Given the description of an element on the screen output the (x, y) to click on. 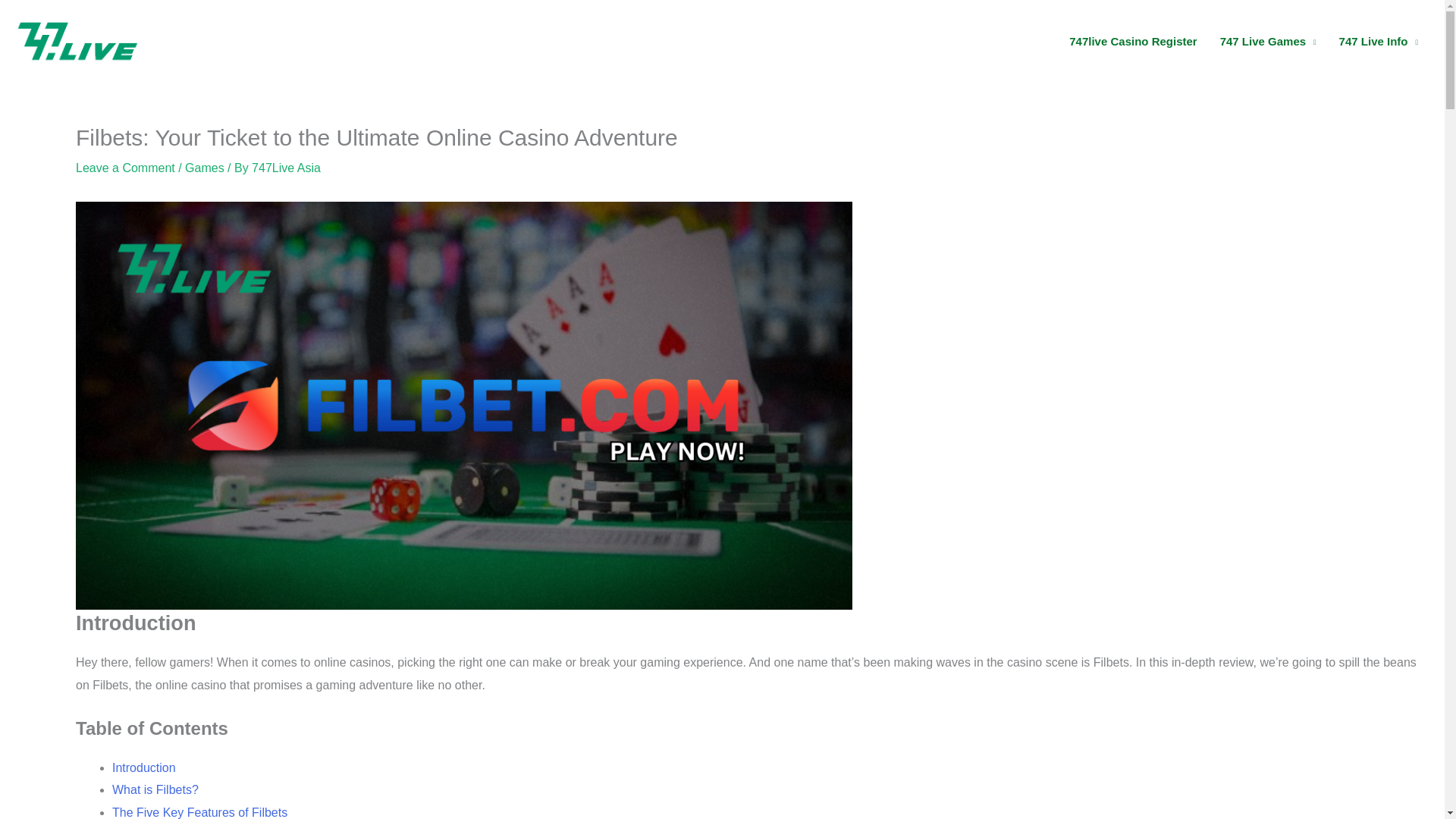
Games (204, 167)
747live Casino Register (1133, 41)
Leave a Comment (124, 167)
View all posts by 747Live Asia (285, 167)
747 Live Games (1267, 41)
747 Live Info (1378, 41)
